Given the description of an element on the screen output the (x, y) to click on. 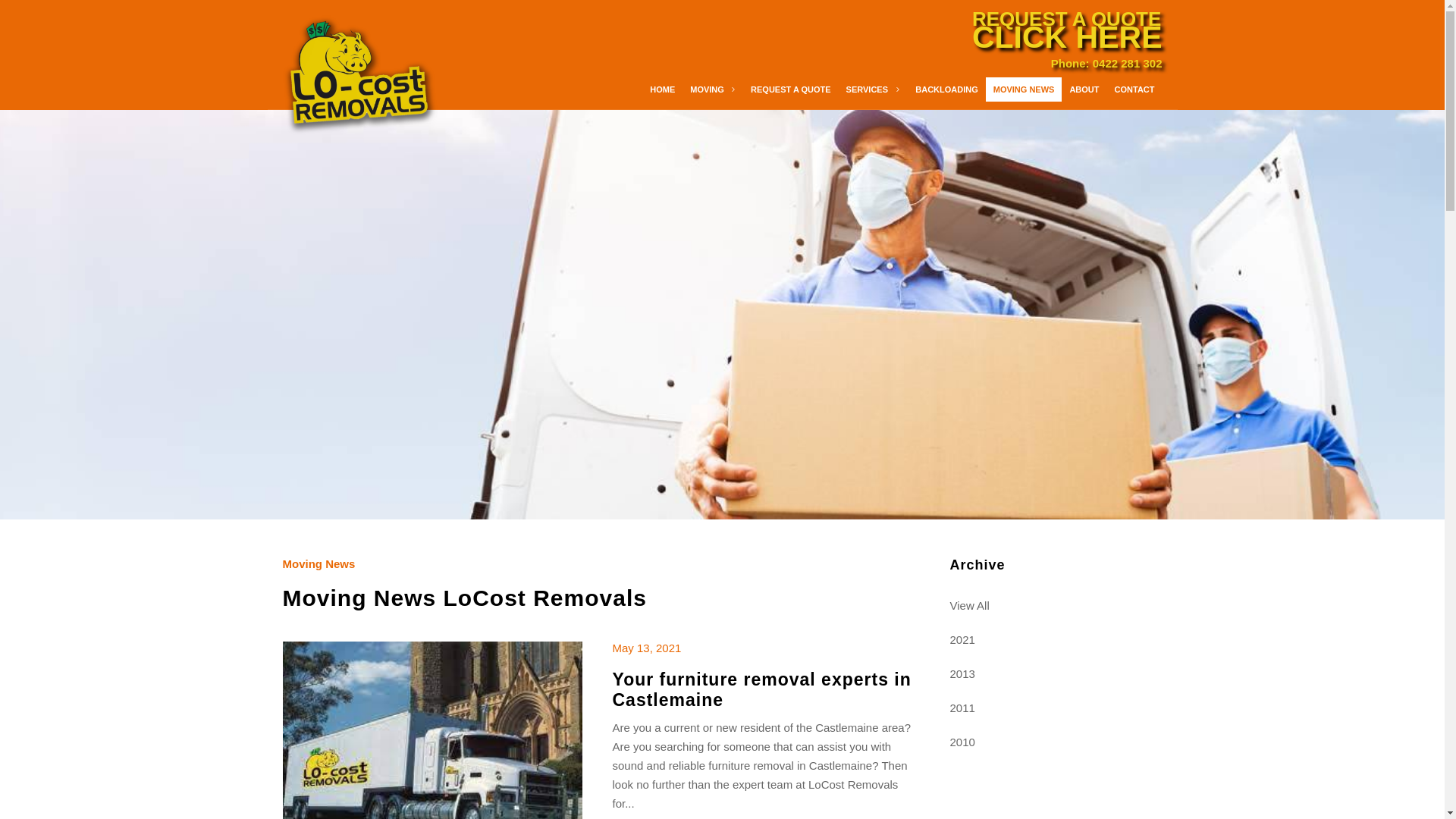
HOME Element type: text (662, 89)
Phone: 0422 281 302 Element type: text (1106, 62)
MOVING Element type: text (712, 89)
BACKLOADING Element type: text (946, 89)
REQUEST A QUOTE
CLICK HERE Element type: text (1067, 25)
2021 Element type: text (1055, 639)
View All Element type: text (1055, 605)
2013 Element type: text (1055, 673)
REQUEST A QUOTE Element type: text (790, 89)
2010 Element type: text (1055, 741)
SERVICES Element type: text (872, 89)
CONTACT Element type: text (1134, 89)
ABOUT Element type: text (1083, 89)
2011 Element type: text (1055, 707)
MOVING NEWS Element type: text (1023, 89)
